Given the description of an element on the screen output the (x, y) to click on. 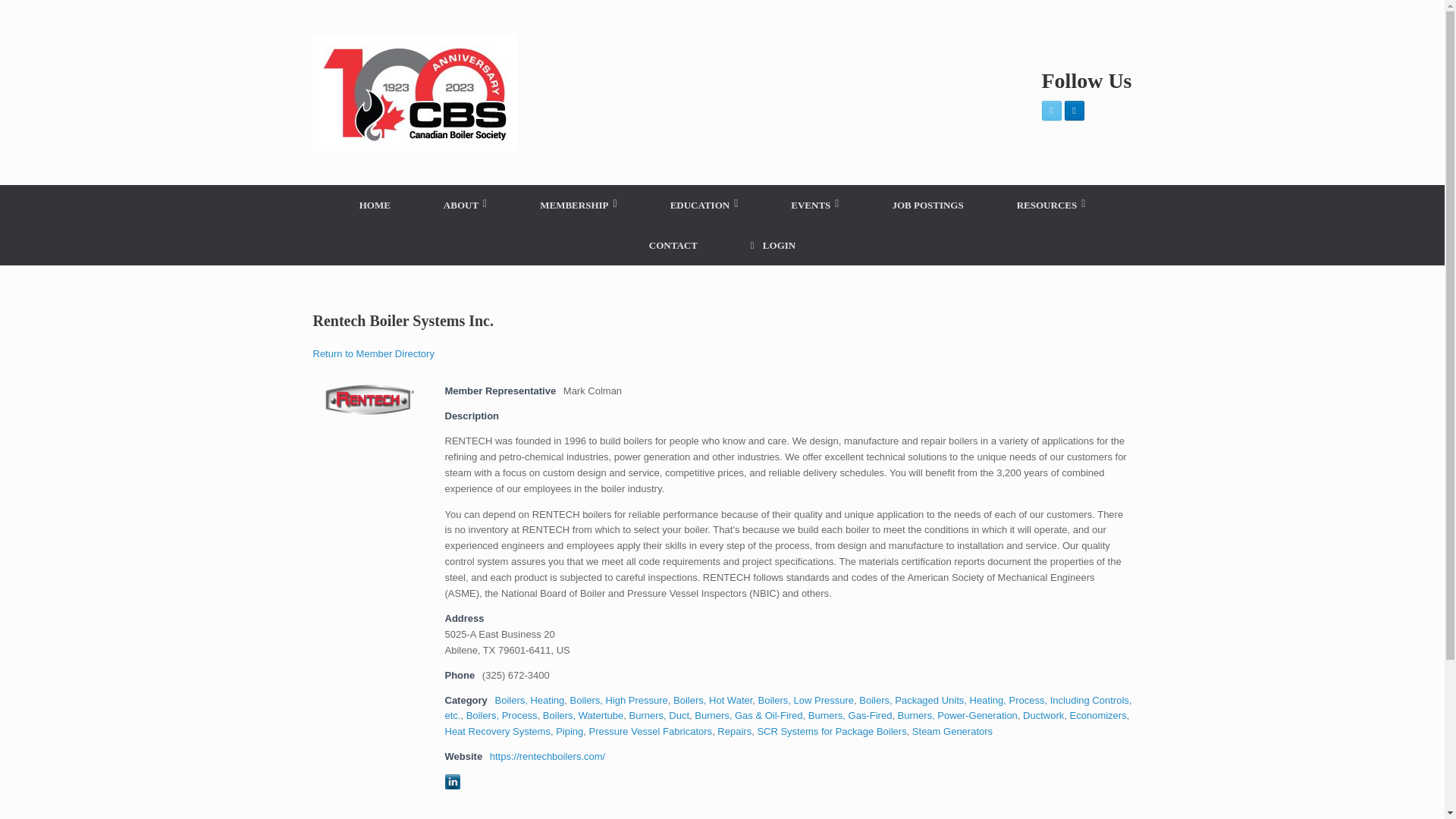
Rentech Boiler Systems Inc. (369, 399)
HOME (374, 205)
RESOURCES (1051, 205)
JOB POSTINGS (927, 205)
Boilers, Hot Water (712, 699)
Boilers, Process (501, 715)
EDUCATION (704, 205)
Boilers, Watertube (583, 715)
Canadian Boiler Society (414, 92)
Return to Member Directory (373, 353)
LOGIN (772, 245)
Boilers, High Pressure (619, 699)
ABOUT (464, 205)
EVENTS (814, 205)
